Given the description of an element on the screen output the (x, y) to click on. 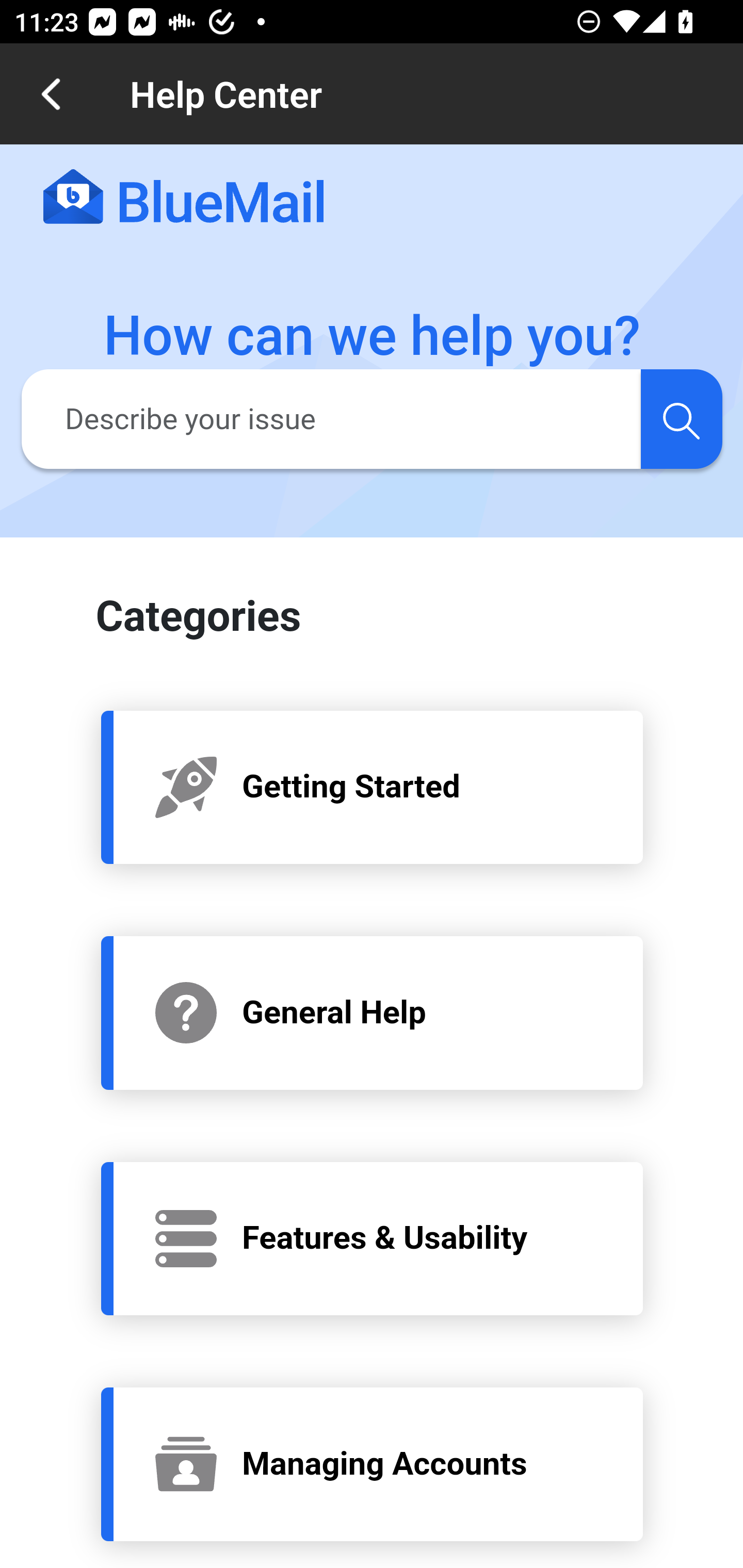
Navigate up (50, 93)
BlueMail Logo (184, 197)
How can we help you? (372, 336)
search (680, 418)
icon Getting Started icon Getting Started (372, 785)
icon General Help icon General Help (372, 1011)
icon Managing Accounts icon Managing Accounts (372, 1463)
